Given the description of an element on the screen output the (x, y) to click on. 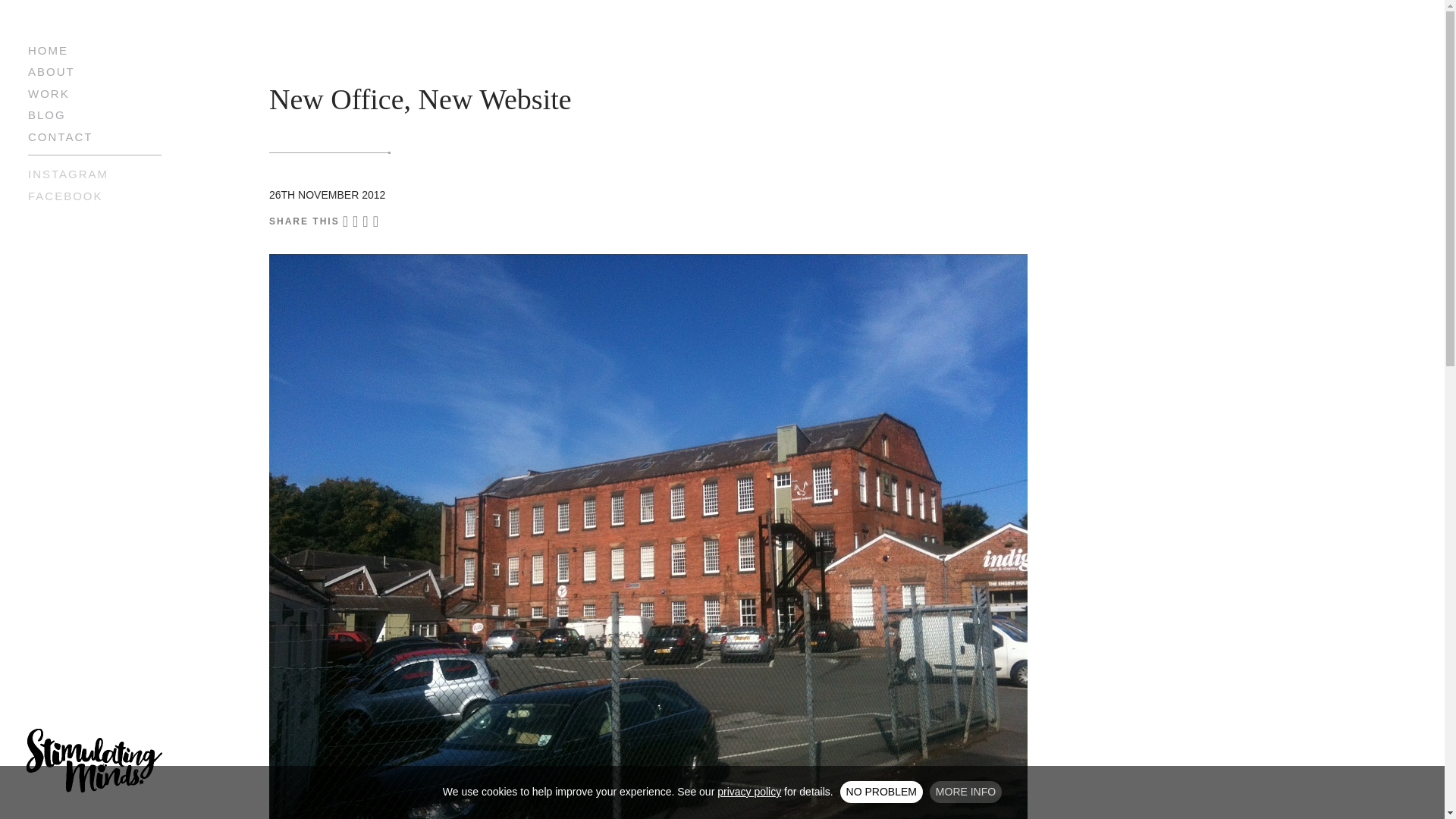
HOME (47, 50)
FACEBOOK (65, 195)
MORE INFO (965, 792)
BLOG (46, 114)
STIMULATING MINDS (93, 760)
New Office, New Website (420, 99)
NO PROBLEM (881, 792)
CONTACT (60, 136)
WORK (48, 92)
New Office, New Website (420, 99)
Stimulating Minds (93, 760)
ABOUT (51, 71)
privacy policy (748, 791)
INSTAGRAM (67, 173)
